Given the description of an element on the screen output the (x, y) to click on. 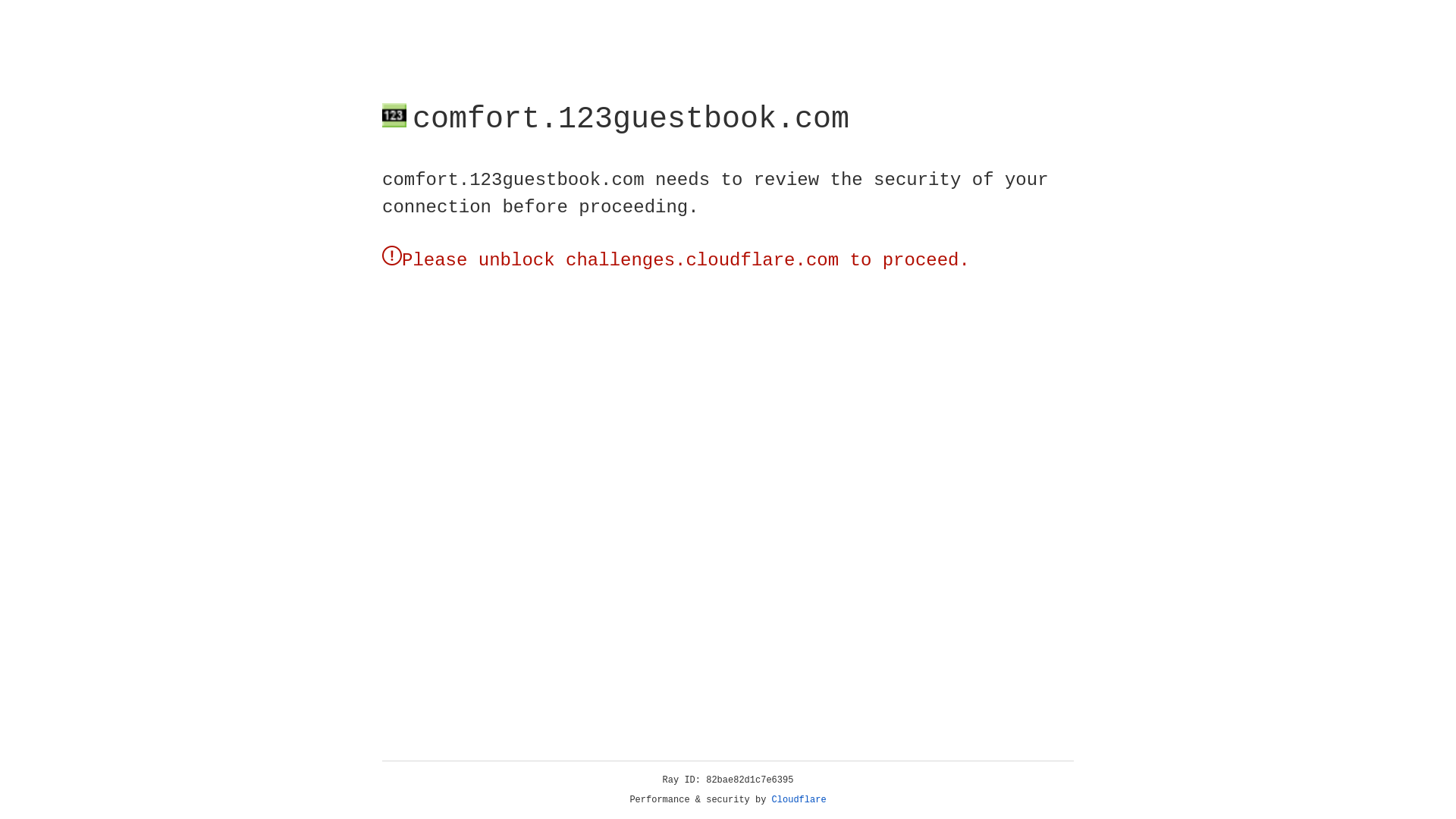
Cloudflare Element type: text (798, 799)
